Given the description of an element on the screen output the (x, y) to click on. 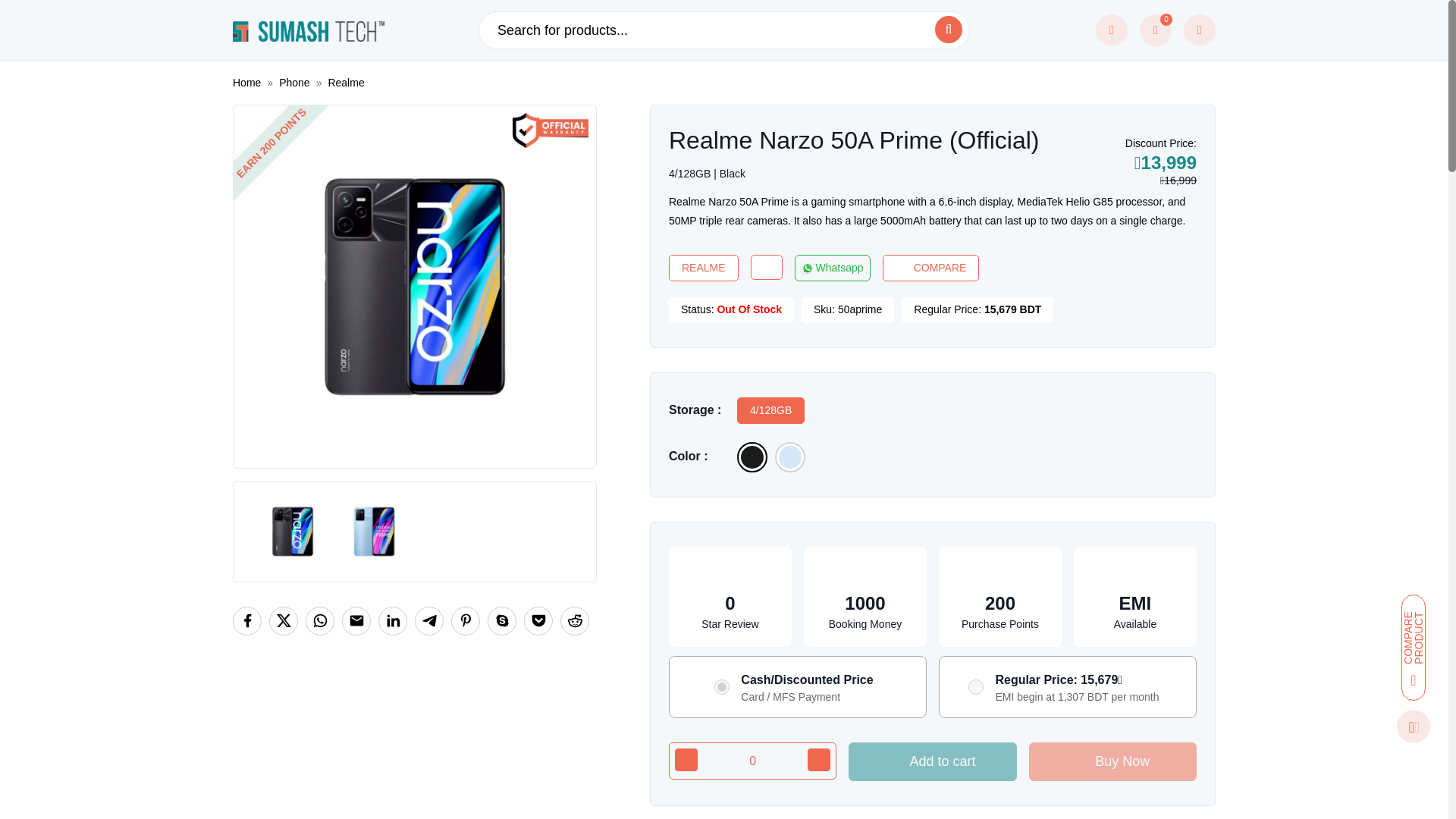
Whatsapp (832, 267)
0 (1156, 29)
2 (976, 686)
1 (721, 686)
Buy Now (1112, 761)
COMPARE (930, 267)
0 (751, 760)
REALME (703, 267)
Phone (293, 82)
Service (1111, 29)
Realme (345, 82)
Visit Sumashtech (308, 30)
Home (246, 82)
Add to cart (932, 761)
